Given the description of an element on the screen output the (x, y) to click on. 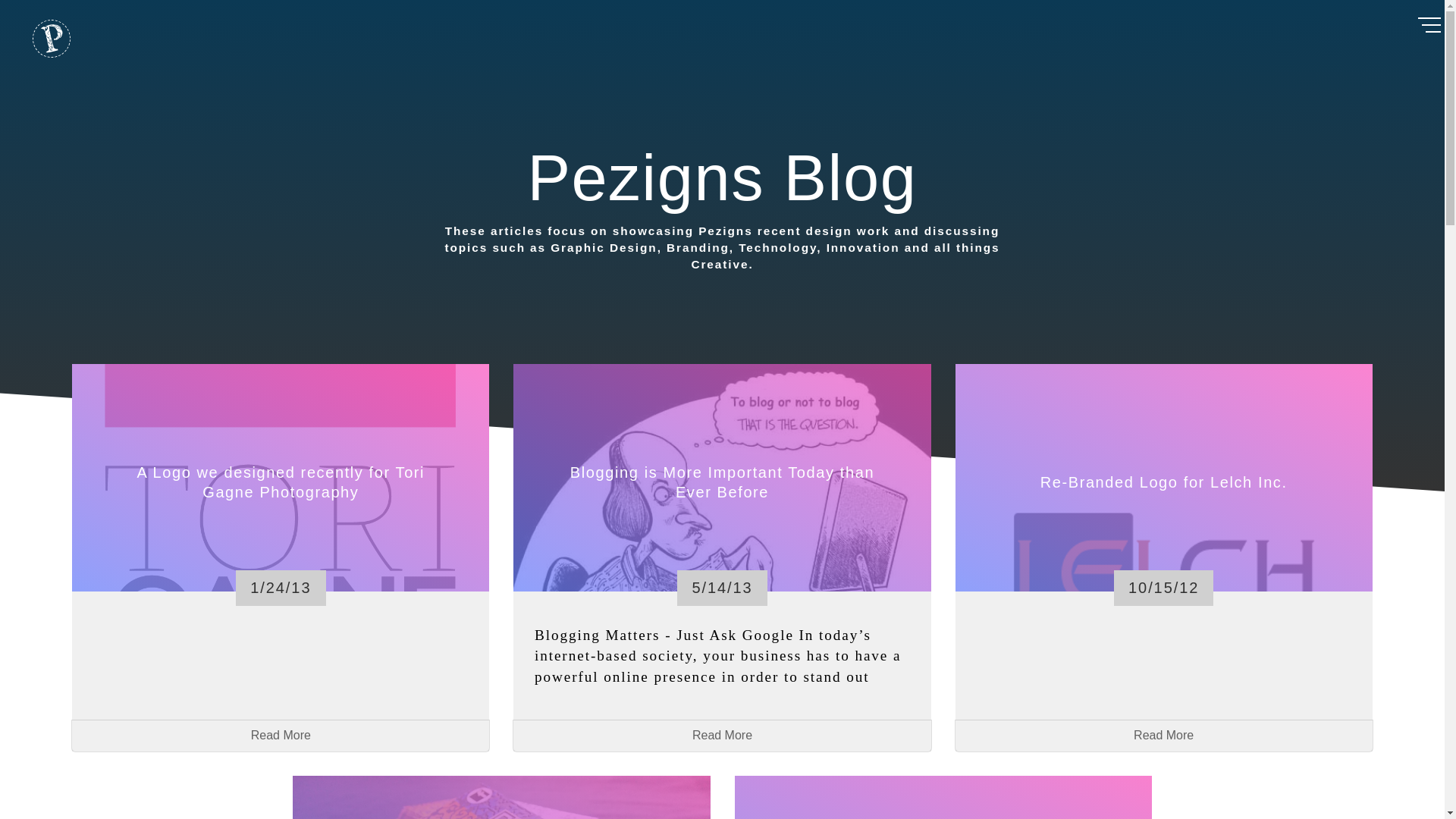
Read More (1164, 735)
Read More (280, 735)
Read More (721, 735)
